Given the description of an element on the screen output the (x, y) to click on. 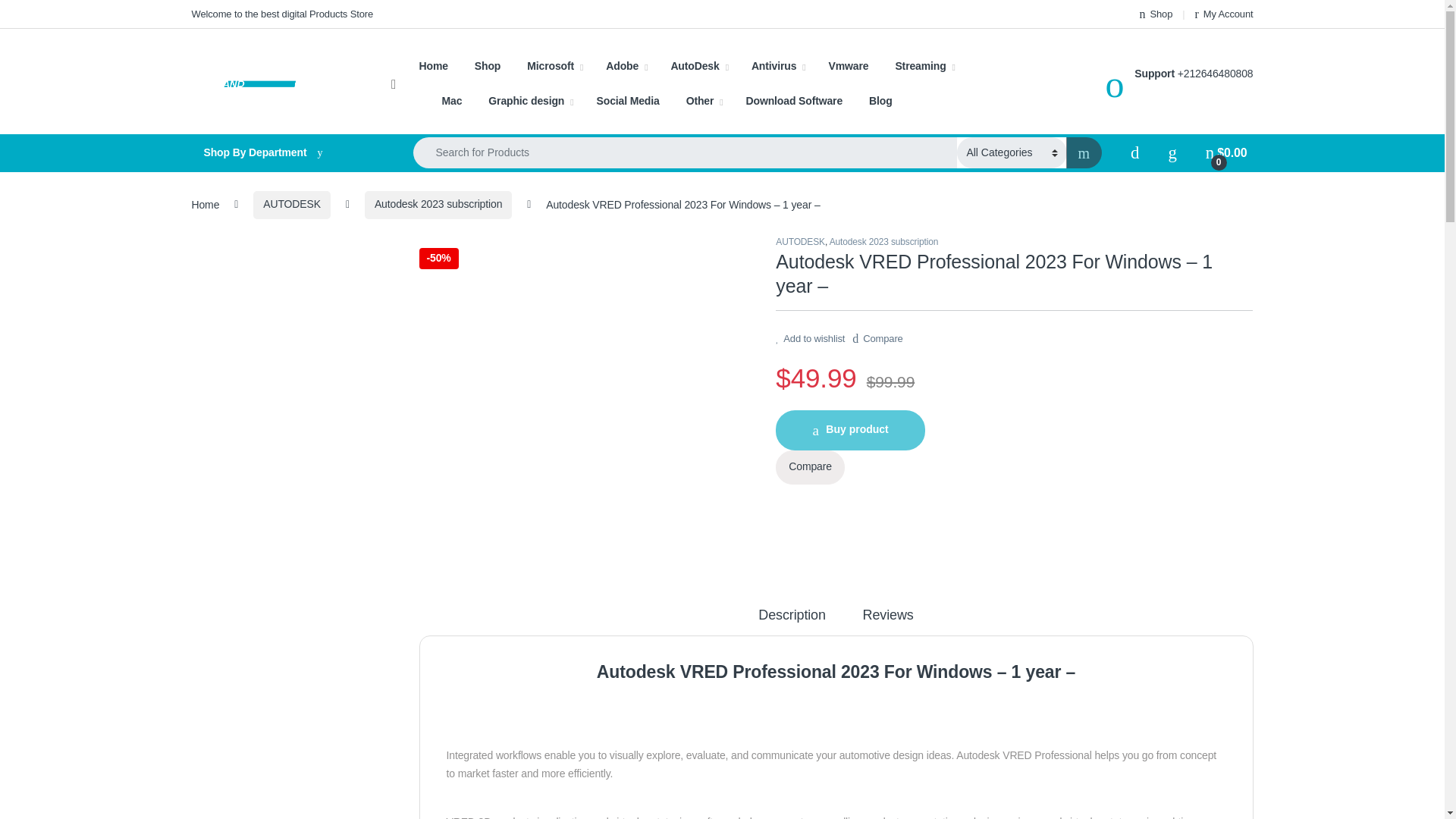
Welcome to the best digital Products Store (281, 13)
My Account (1224, 13)
Welcome to the best digital Products Store (281, 13)
Shop (1156, 13)
My Account (1224, 13)
Shop (1156, 13)
